Given the description of an element on the screen output the (x, y) to click on. 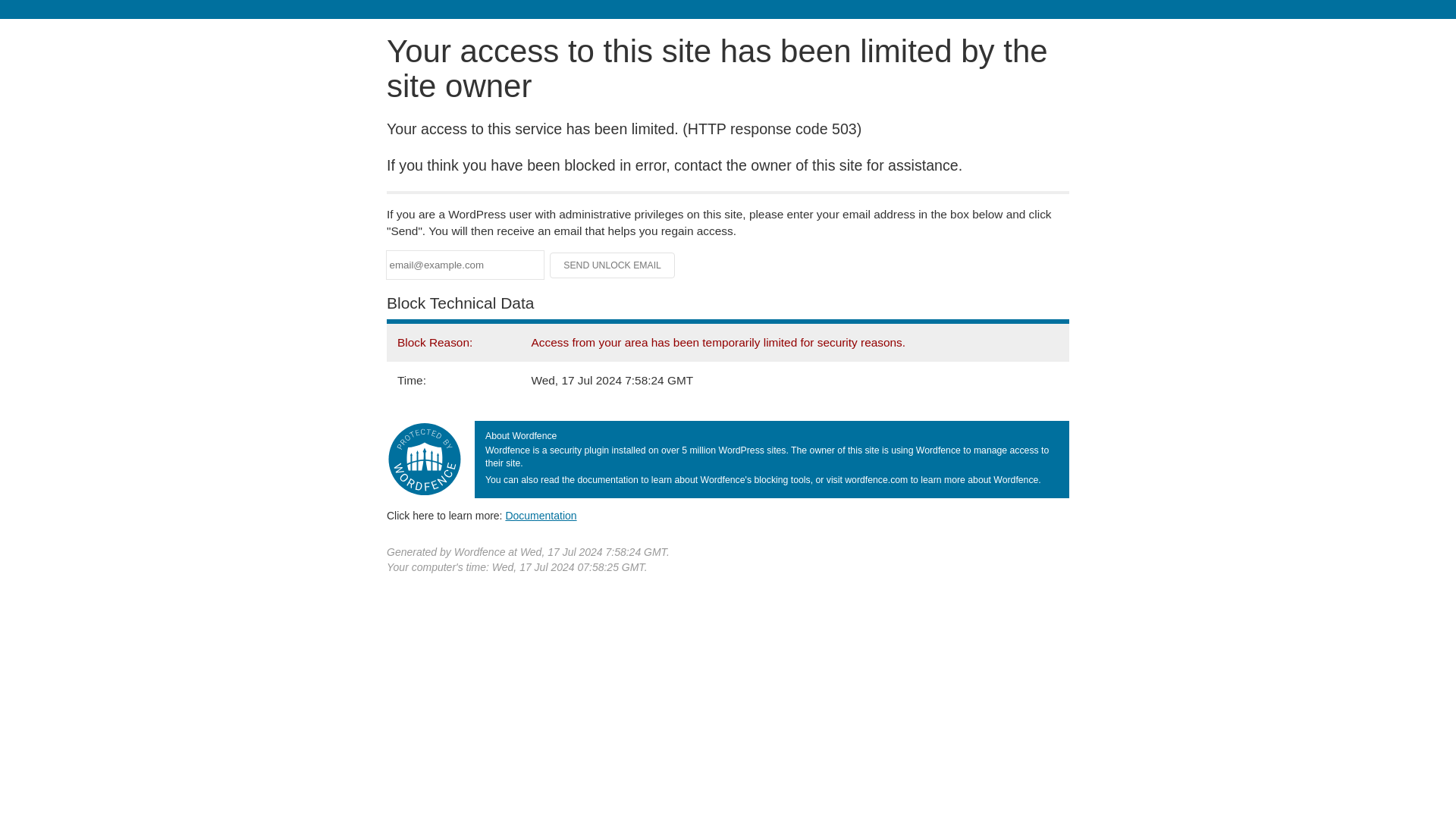
Documentation (540, 515)
Send Unlock Email (612, 265)
Send Unlock Email (612, 265)
